Given the description of an element on the screen output the (x, y) to click on. 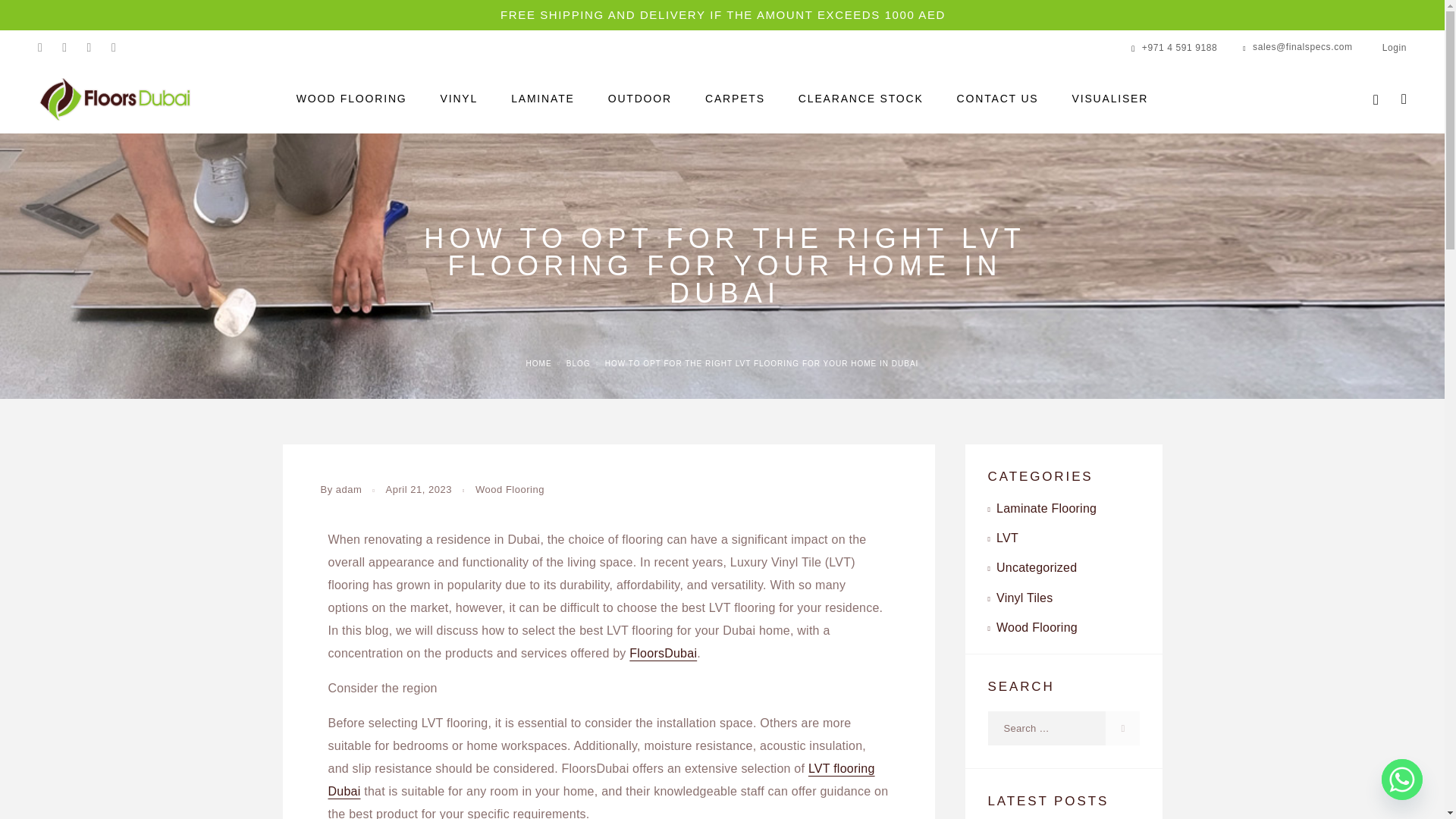
Home (538, 363)
Blog (578, 363)
View all posts in Wood Flooring (510, 489)
